Given the description of an element on the screen output the (x, y) to click on. 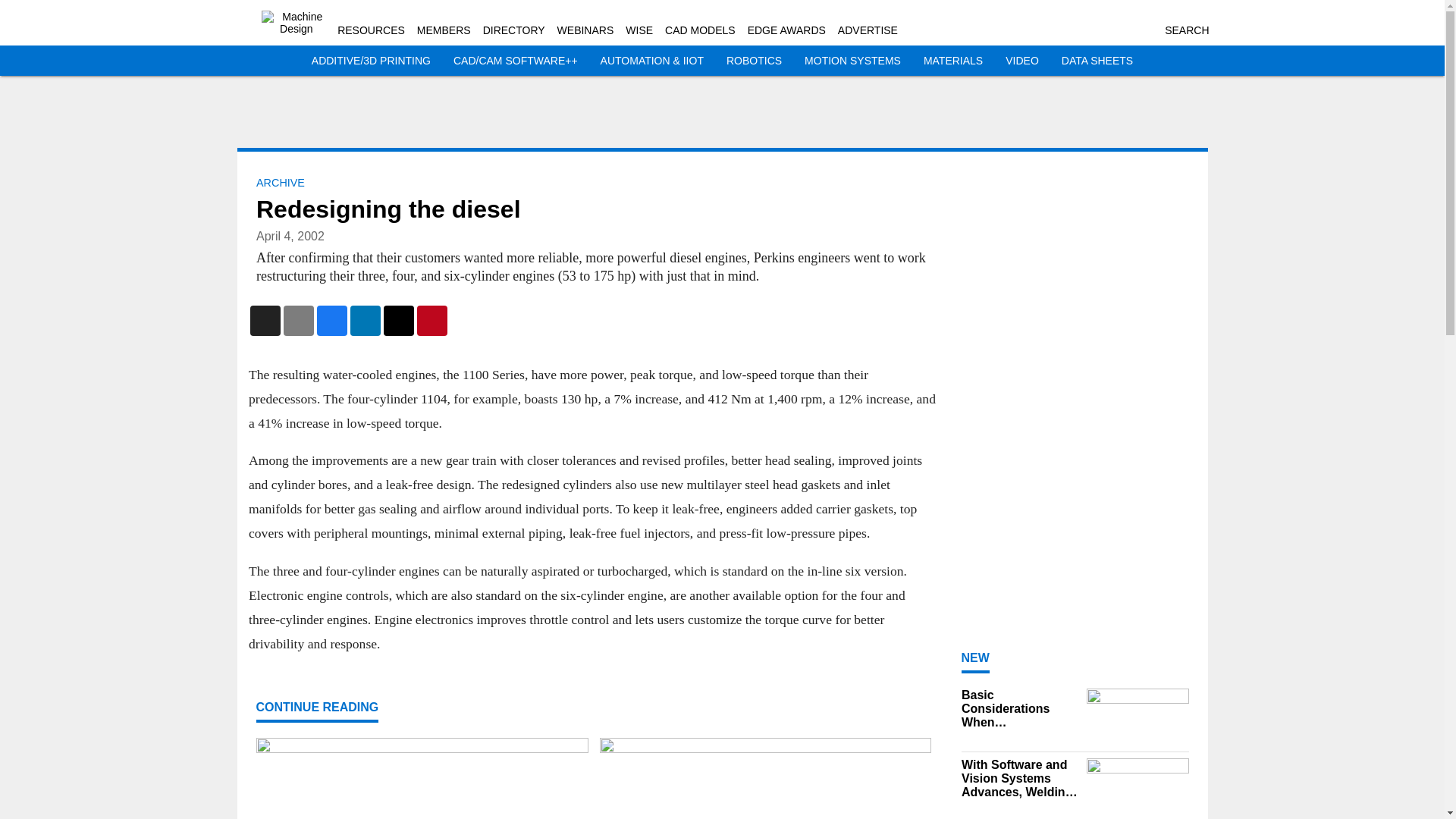
MEMBERS (443, 30)
WEBINARS (585, 30)
MOTION SYSTEMS (853, 60)
WISE (639, 30)
EDGE AWARDS (786, 30)
ROBOTICS (753, 60)
VIDEO (1022, 60)
ARCHIVE (280, 182)
CAD MODELS (700, 30)
ADVERTISE (868, 30)
